Given the description of an element on the screen output the (x, y) to click on. 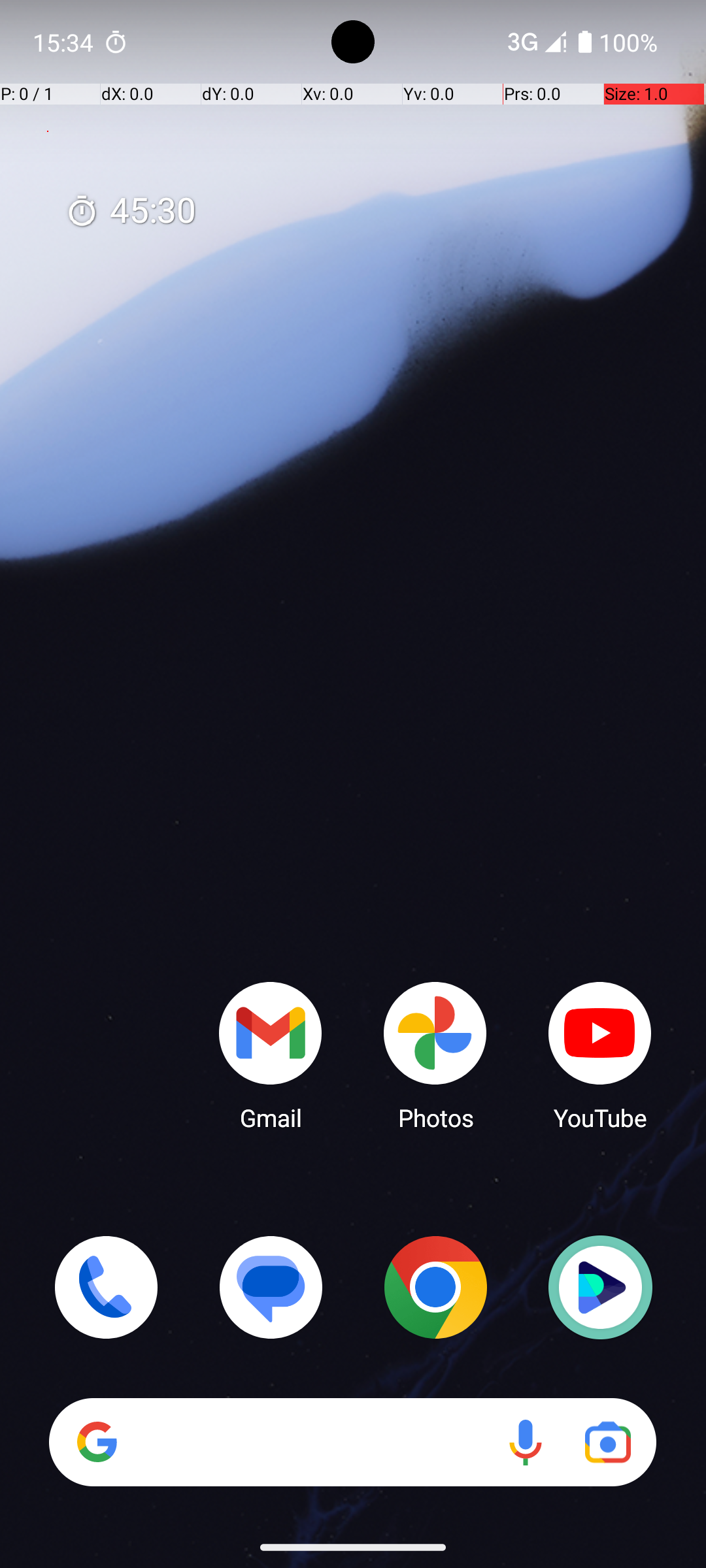
Home Element type: android.view.View (353, 804)
Phone Element type: android.widget.TextView (105, 1287)
Messages Element type: android.widget.TextView (270, 1287)
Chrome Element type: android.widget.TextView (435, 1287)
Retro Music Element type: android.widget.TextView (599, 1287)
Search Element type: android.widget.FrameLayout (352, 1442)
45:30 Element type: android.widget.TextView (130, 210)
Gmail Element type: android.widget.TextView (270, 1054)
Photos Element type: android.widget.TextView (435, 1054)
YouTube Element type: android.widget.TextView (599, 1054)
Google app Element type: android.widget.ImageView (97, 1441)
Voice search Element type: android.widget.ImageView (525, 1442)
Google Lens Element type: android.widget.ImageButton (607, 1442)
